Given the description of an element on the screen output the (x, y) to click on. 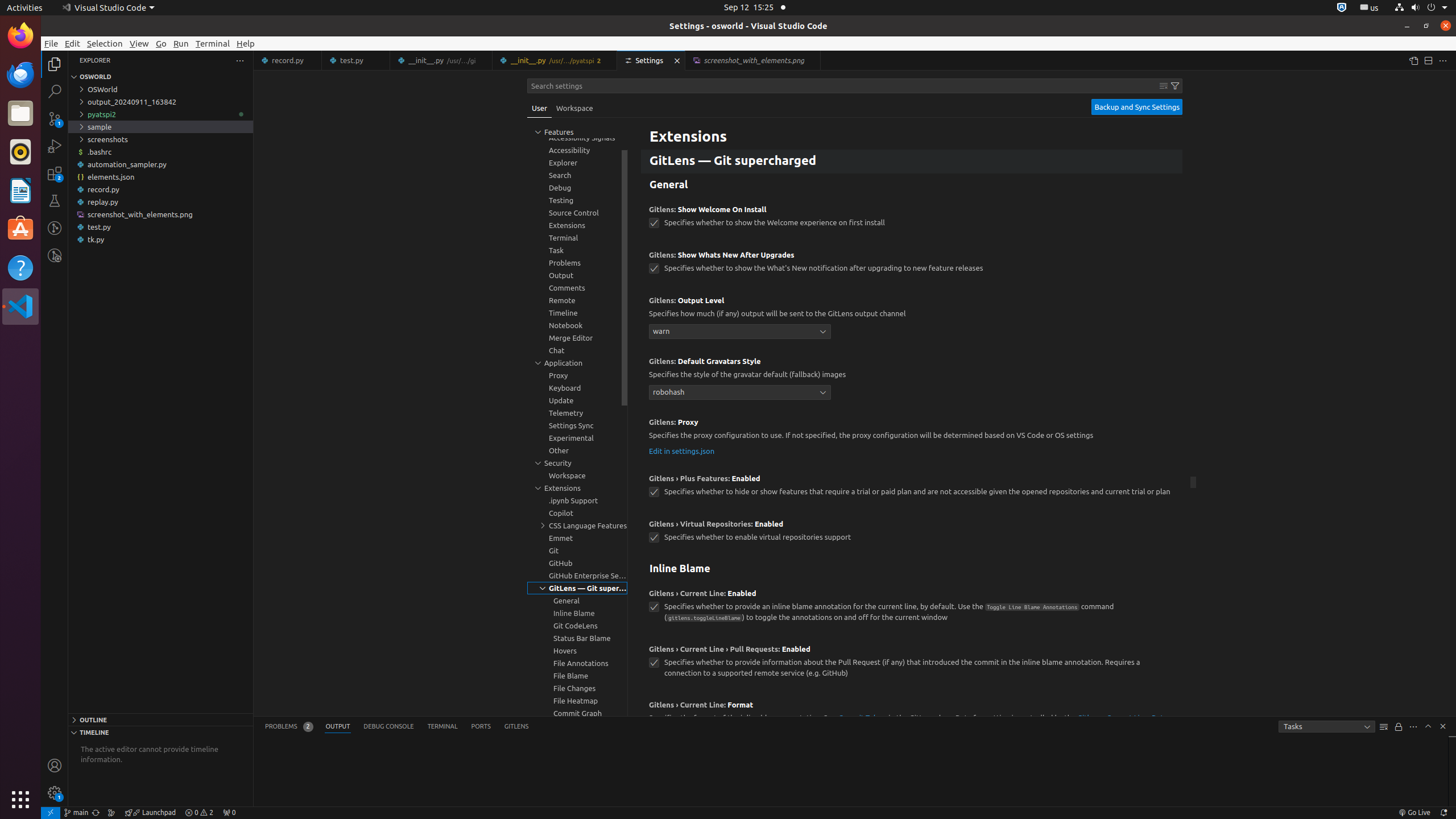
Comments, group Element type: tree-item (577, 287)
Selection Element type: push-button (104, 43)
Active View Switcher Element type: page-tab-list (396, 726)
Tasks Element type: menu-item (1326, 726)
Firefox Web Browser Element type: push-button (20, 35)
